Given the description of an element on the screen output the (x, y) to click on. 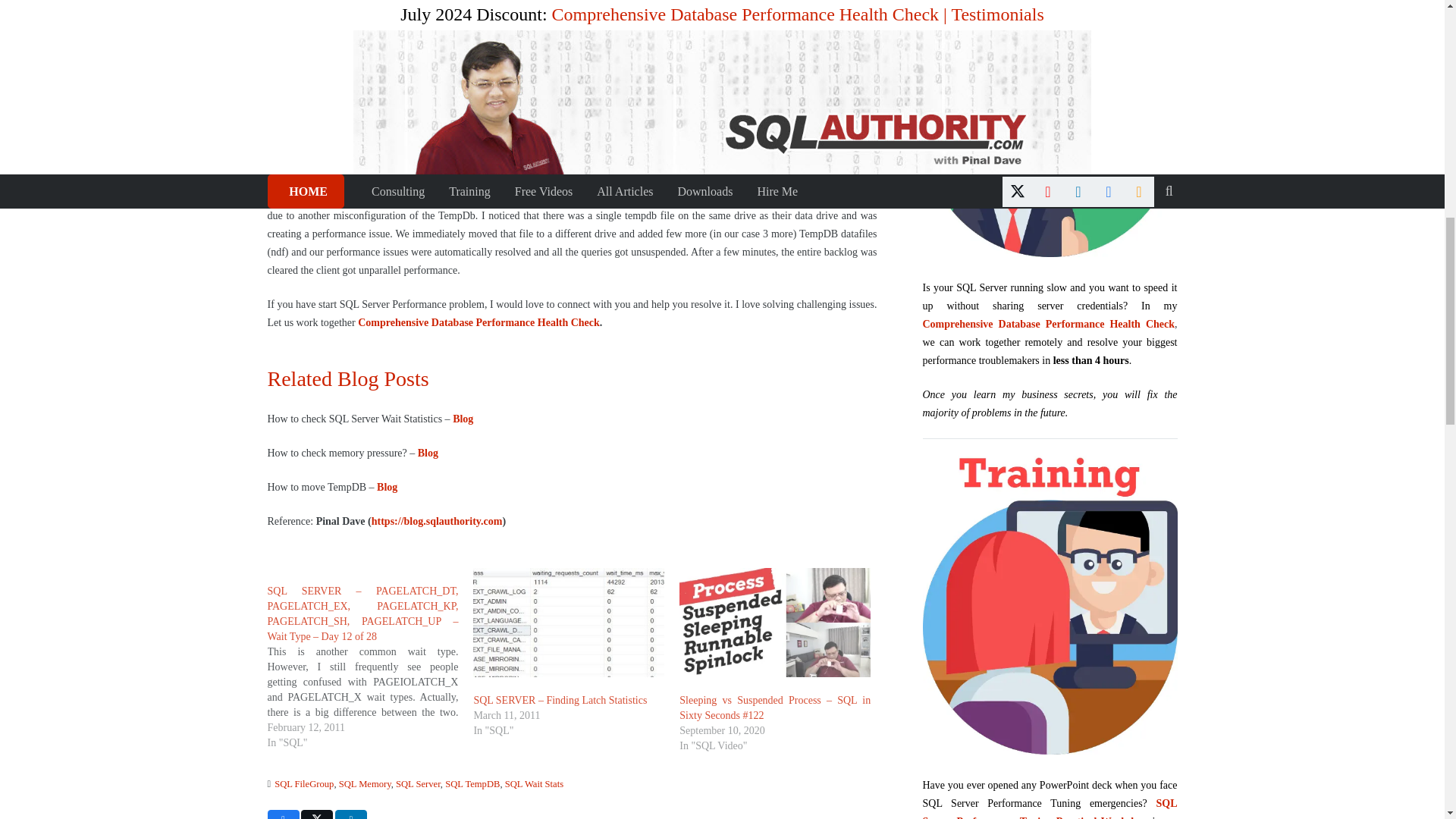
Blog (427, 452)
Blog (462, 419)
Blog (387, 487)
Tweet this (317, 814)
Comprehensive Database Performance Health Check (478, 322)
Share this (282, 814)
